Given the description of an element on the screen output the (x, y) to click on. 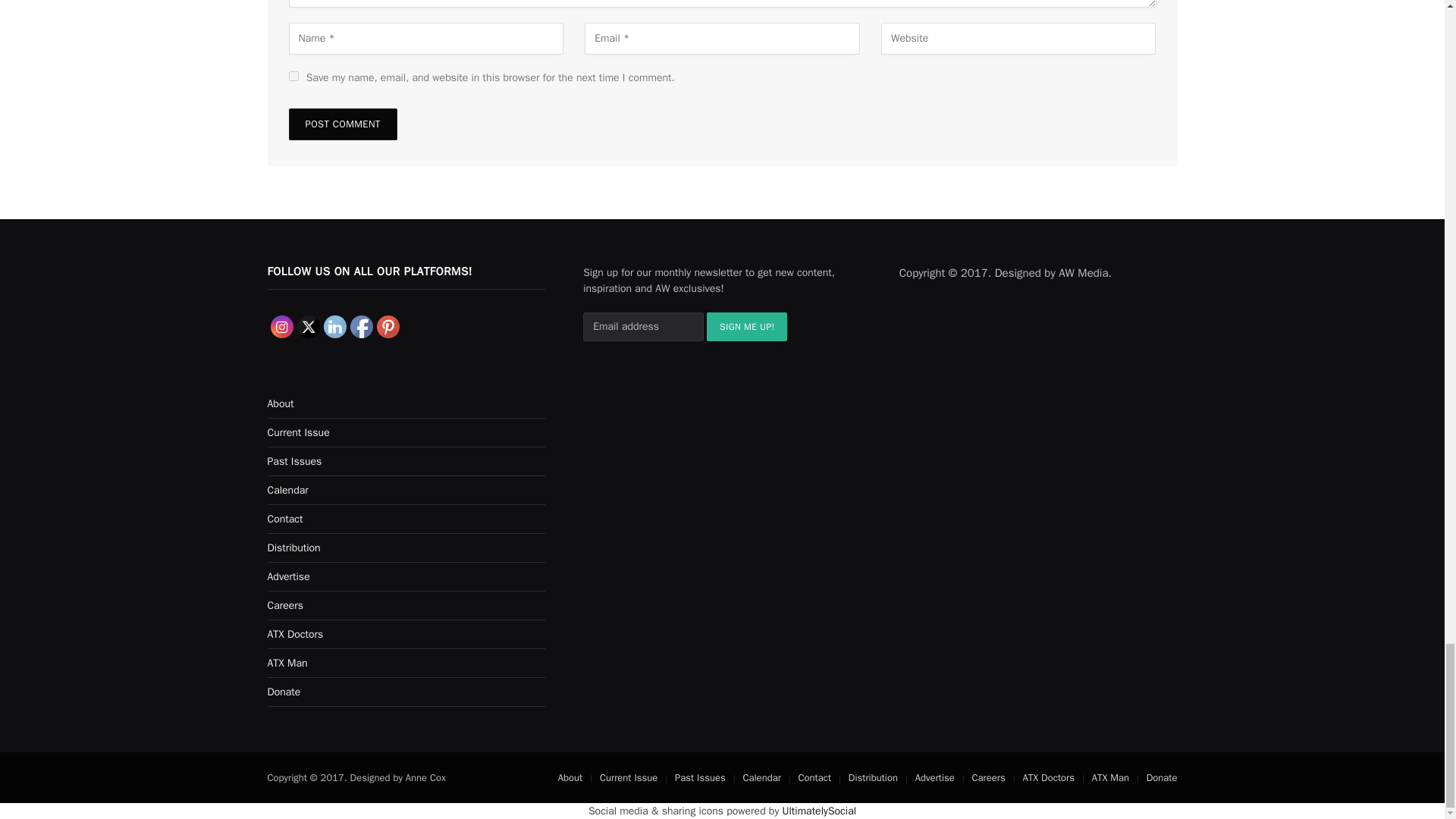
Post Comment (342, 124)
Sign me up! (746, 326)
yes (293, 76)
